Given the description of an element on the screen output the (x, y) to click on. 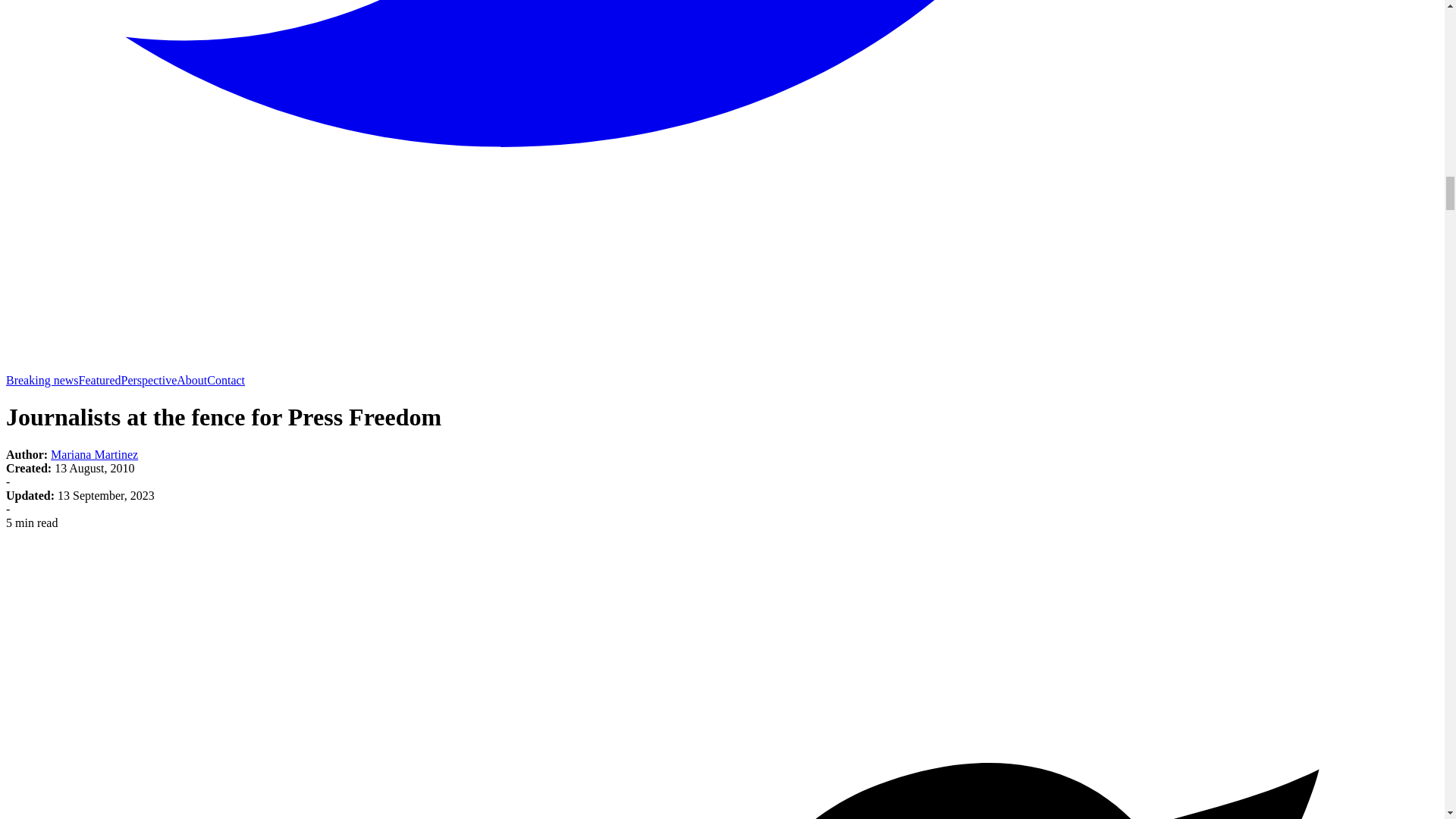
Contact (225, 379)
Featured (99, 379)
About (191, 379)
Mariana Martinez (94, 454)
Perspective (148, 379)
Breaking news (41, 379)
